Given the description of an element on the screen output the (x, y) to click on. 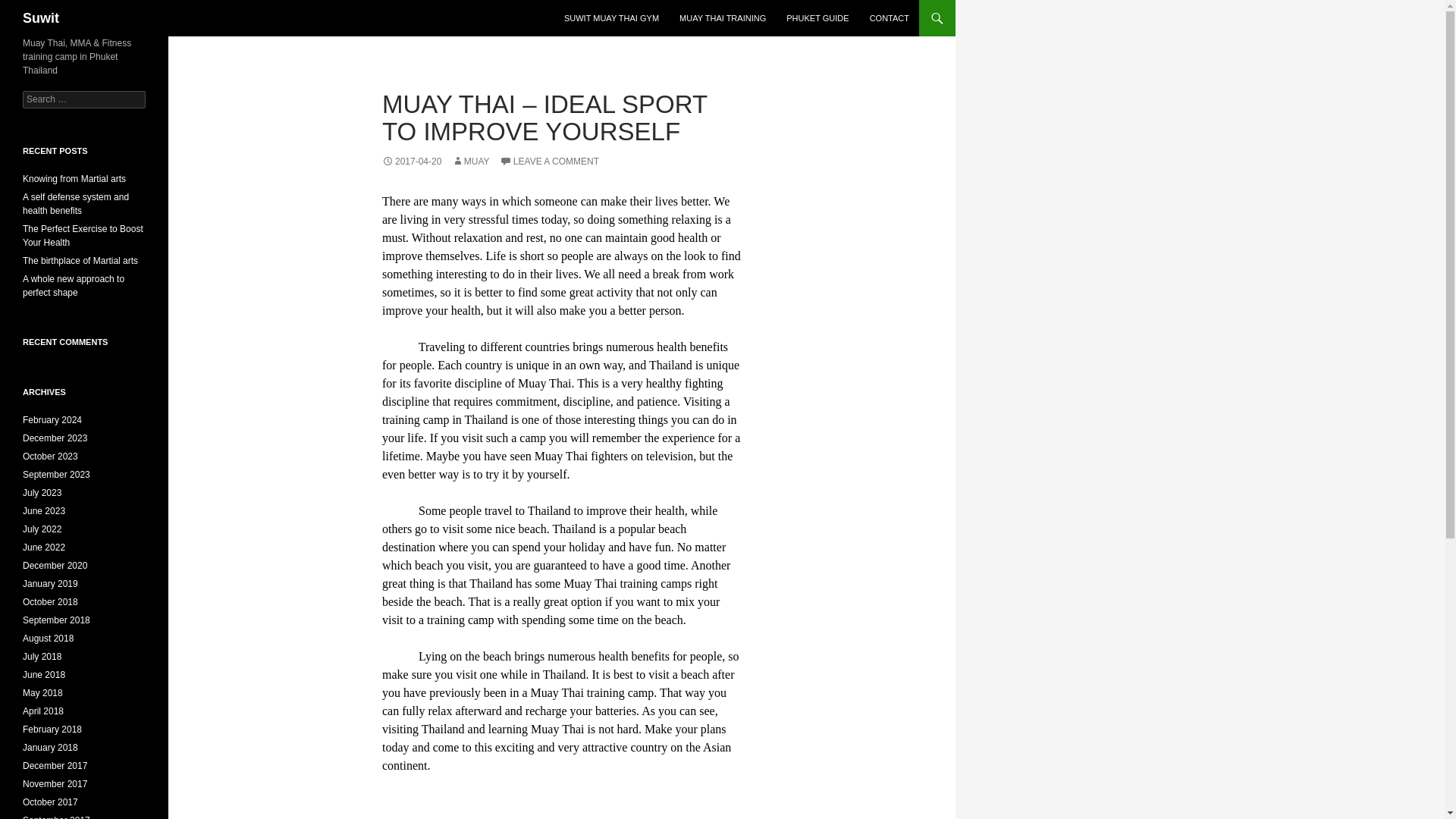
October 2018 (50, 602)
February 2018 (52, 728)
July 2018 (42, 656)
Suwit (41, 18)
April 2018 (43, 710)
January 2019 (50, 583)
The birthplace of Martial arts (80, 260)
October 2023 (50, 456)
July 2023 (42, 492)
August 2018 (48, 638)
